Given the description of an element on the screen output the (x, y) to click on. 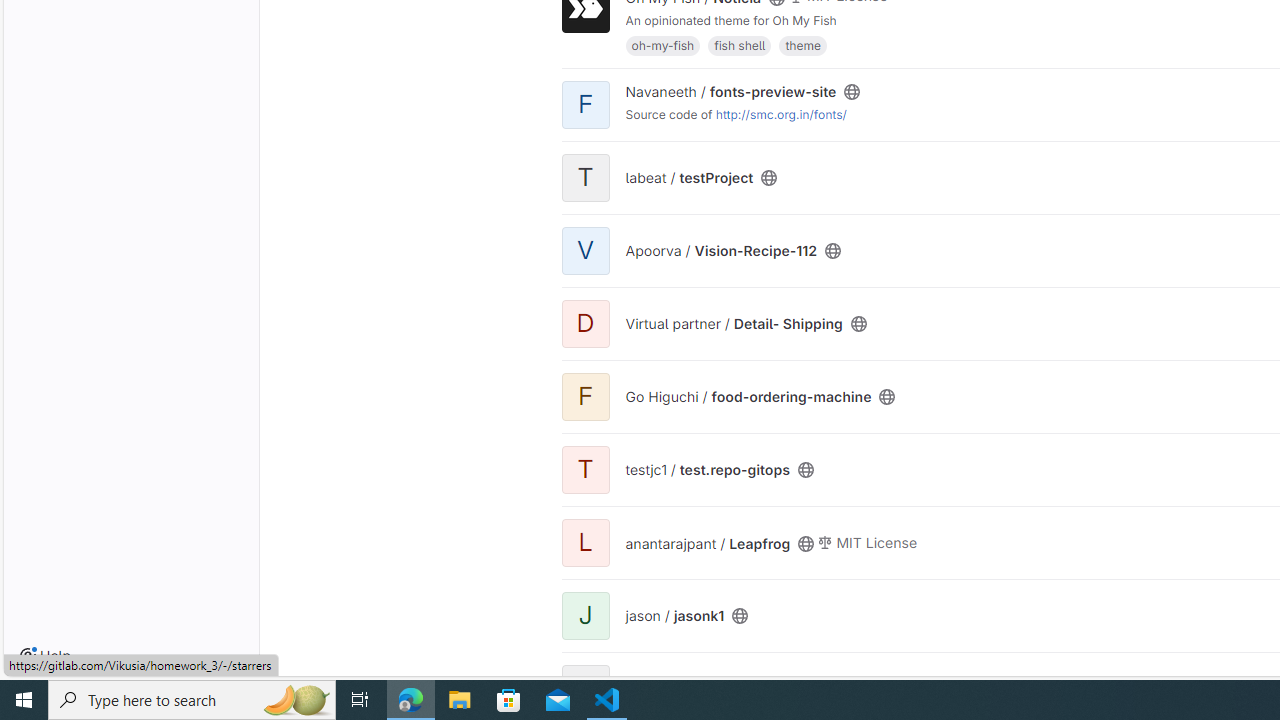
W (585, 687)
Class: s14 gl-mr-2 (825, 542)
jason / jasonk1 (674, 615)
fish shell (739, 43)
T (585, 468)
http://smc.org.in/fonts/ (781, 113)
D (585, 322)
